Given the description of an element on the screen output the (x, y) to click on. 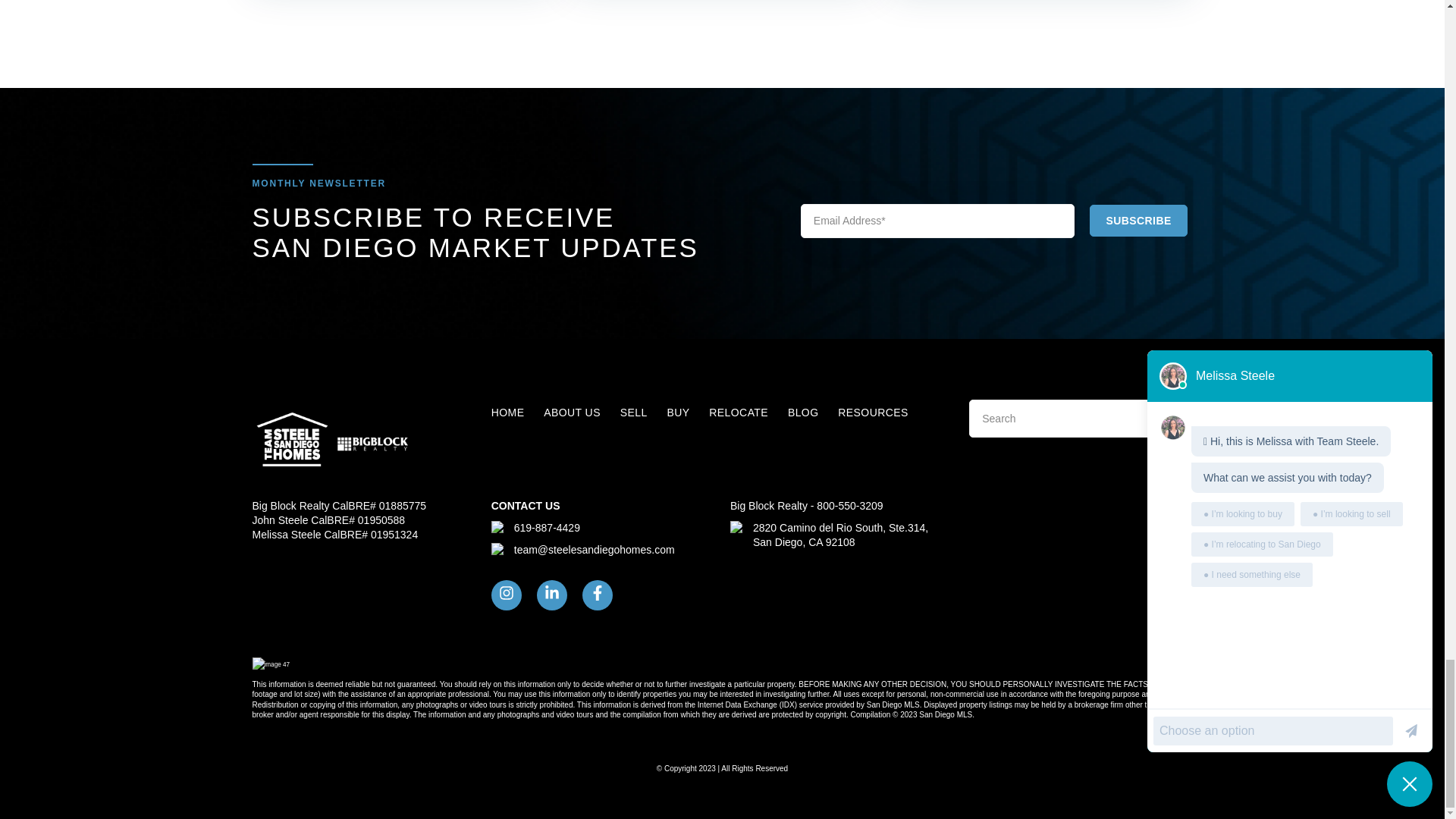
BLOG (802, 412)
HOME (508, 412)
619-887-4429 (546, 527)
ABOUT US (571, 412)
Subscribe (1137, 220)
BUY (677, 412)
SELL (633, 412)
Subscribe (1137, 220)
RELOCATE (738, 412)
RESOURCES (872, 412)
